Given the description of an element on the screen output the (x, y) to click on. 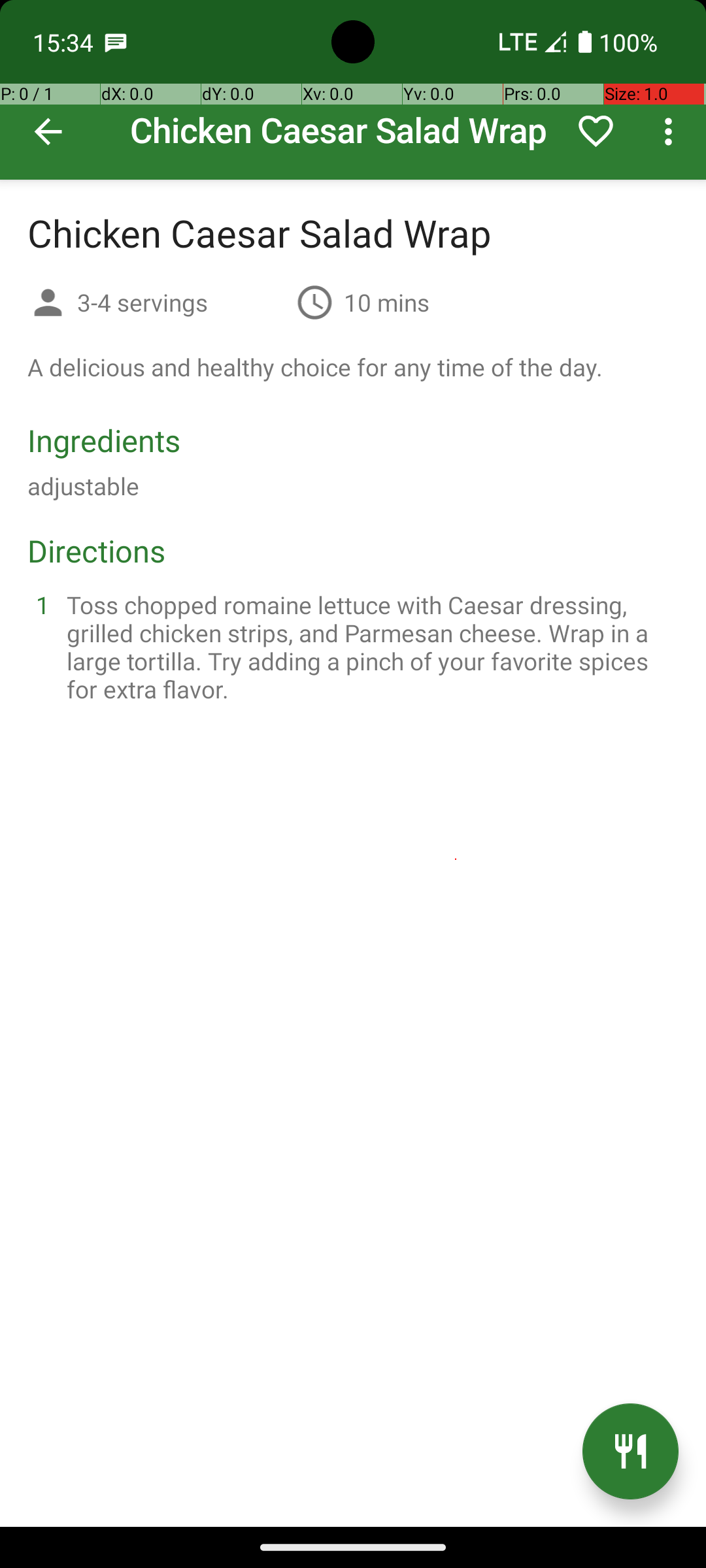
Toss chopped romaine lettuce with Caesar dressing, grilled chicken strips, and Parmesan cheese. Wrap in a large tortilla. Try adding a pinch of your favorite spices for extra flavor. Element type: android.widget.TextView (368, 646)
